Given the description of an element on the screen output the (x, y) to click on. 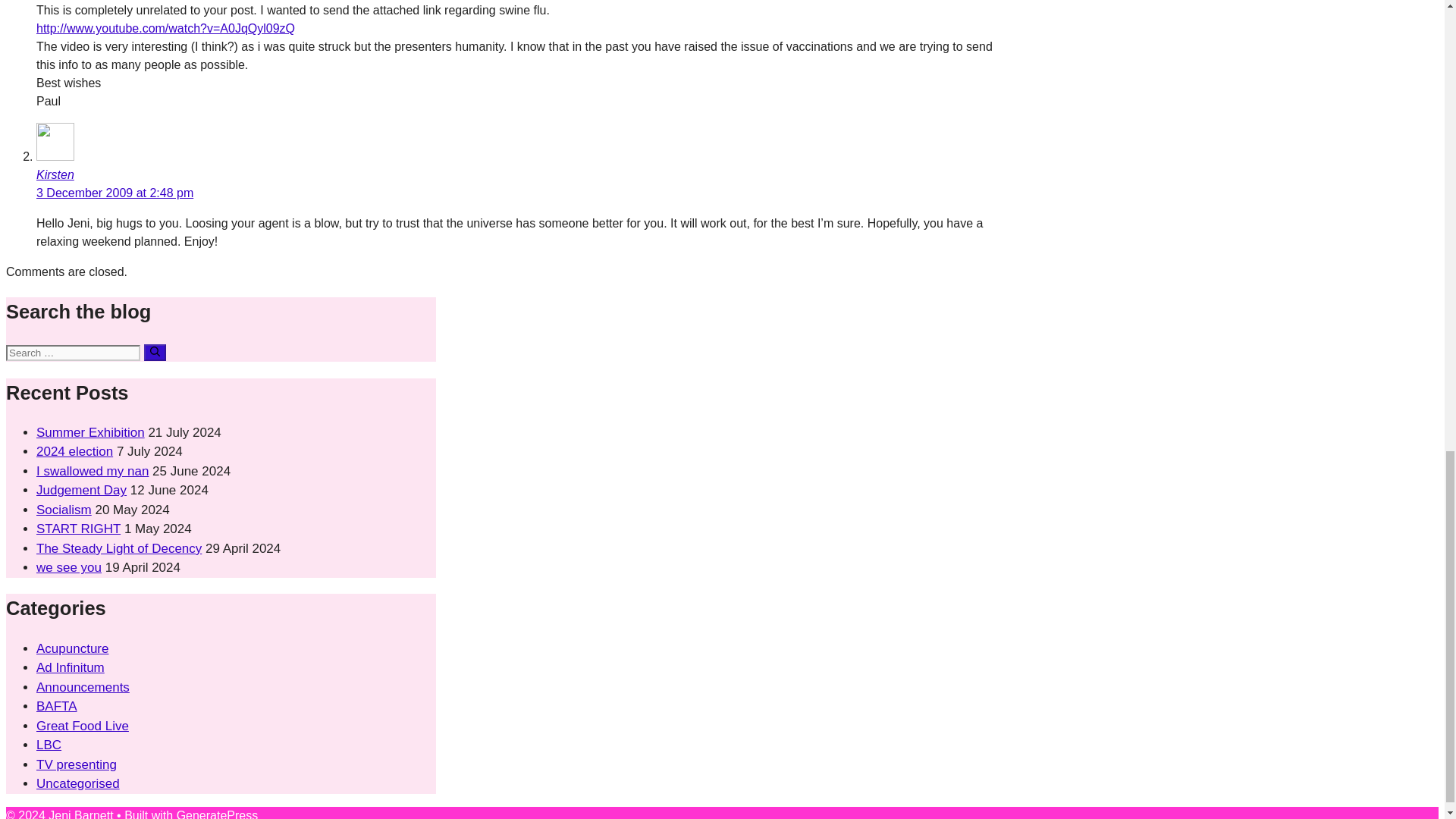
BAFTA (56, 706)
Great Food Live (82, 726)
3 December 2009 at 2:48 pm (114, 192)
LBC (48, 744)
Kirsten (55, 174)
Judgement Day (81, 490)
Acupuncture (71, 648)
Announcements (82, 687)
Summer Exhibition (90, 432)
TV presenting (76, 764)
Uncategorised (77, 783)
Socialism (63, 509)
I swallowed my nan (92, 471)
The Steady Light of Decency (119, 548)
START RIGHT (78, 528)
